Given the description of an element on the screen output the (x, y) to click on. 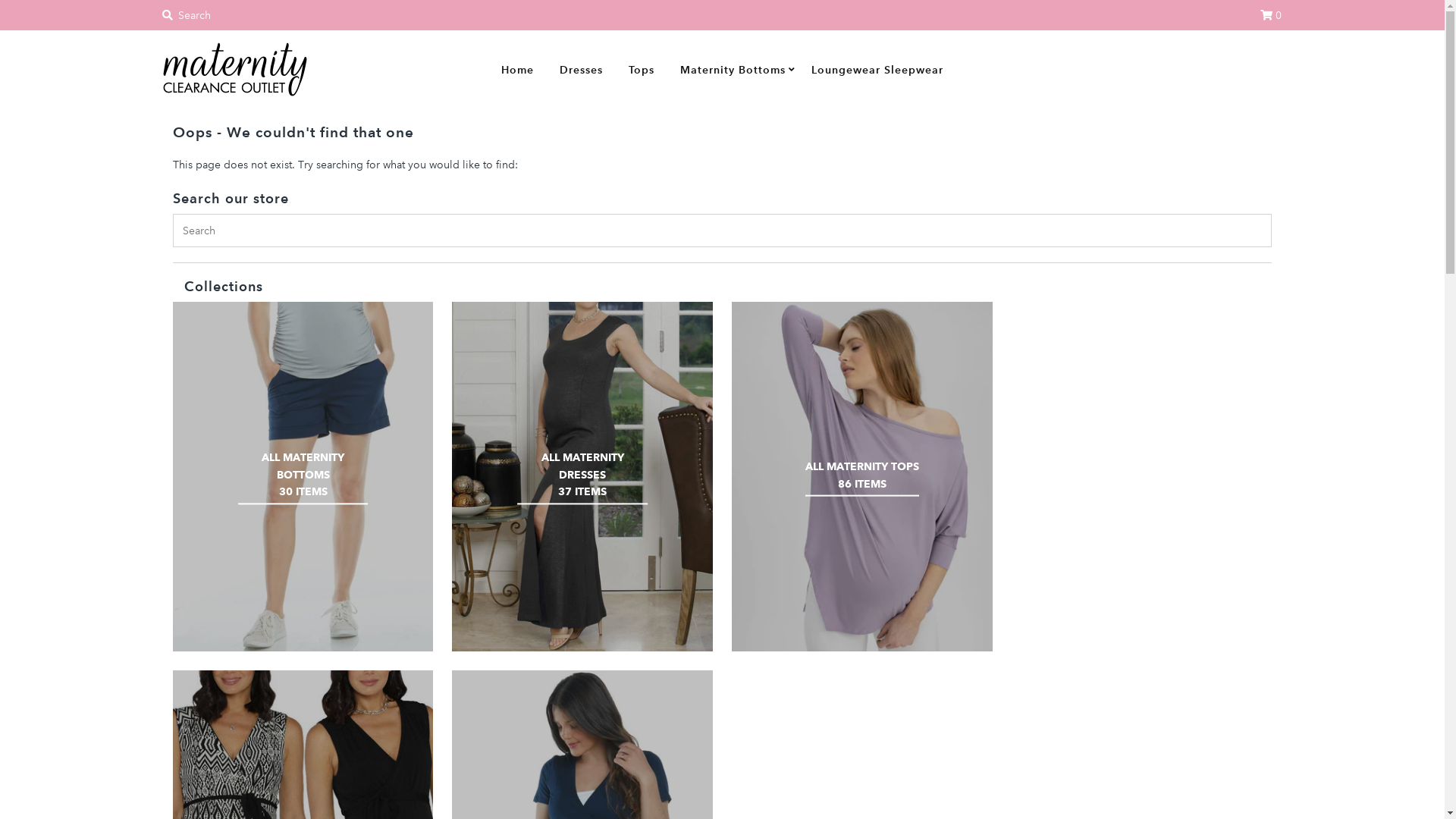
Dresses Element type: text (581, 68)
ALL MATERNITY DRESSES
37 ITEMS Element type: text (582, 475)
Tops Element type: text (641, 68)
ALL MATERNITY TOPS
86 ITEMS Element type: text (862, 475)
Home Element type: text (517, 68)
BREASTFEEDING
0 ITEMS Element type: text (1141, 475)
All Maternity Bottoms Element type: hover (302, 476)
All Maternity Tops Element type: hover (861, 476)
All Maternity Dresses Element type: hover (581, 476)
Maternity Bottoms Element type: text (732, 68)
Loungewear Sleepwear Element type: text (877, 68)
0 Element type: text (1270, 14)
ALL MATERNITY BOTTOMS
30 ITEMS Element type: text (303, 475)
